Given the description of an element on the screen output the (x, y) to click on. 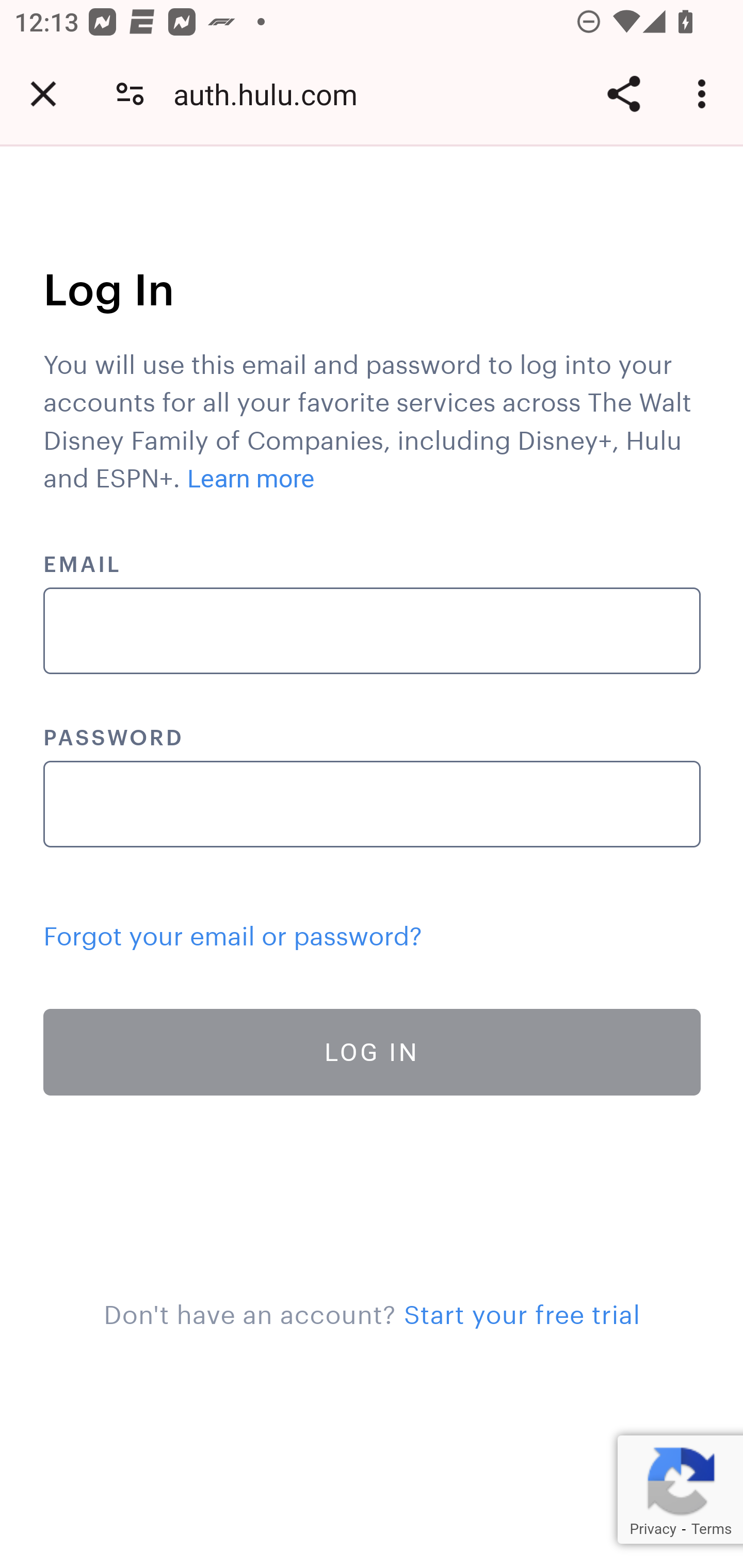
Close tab (43, 93)
Share (623, 93)
Customize and control Google Chrome (705, 93)
Connection is secure (129, 93)
auth.hulu.com (272, 93)
Learn more (250, 478)
Forgot your email or password? (233, 931)
LOG IN (372, 1051)
Start your free trial (521, 1309)
Privacy (652, 1528)
Terms (711, 1528)
